Given the description of an element on the screen output the (x, y) to click on. 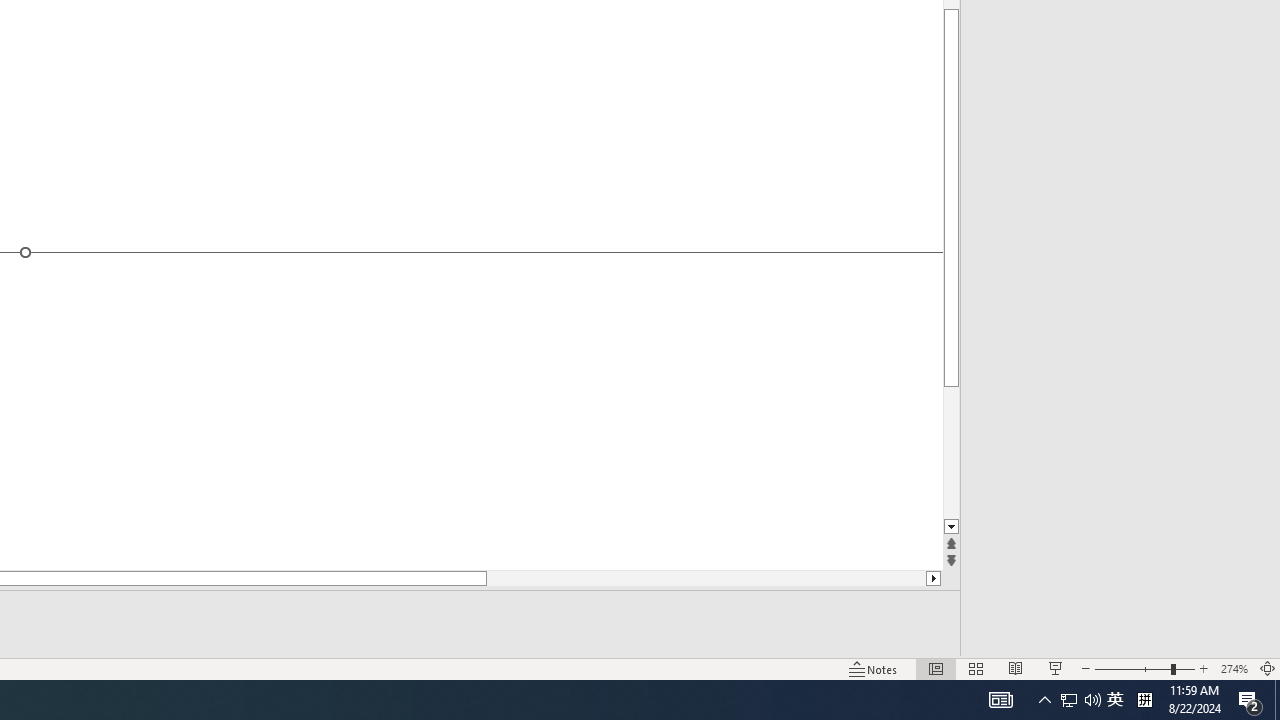
Zoom 274% (1234, 668)
